Given the description of an element on the screen output the (x, y) to click on. 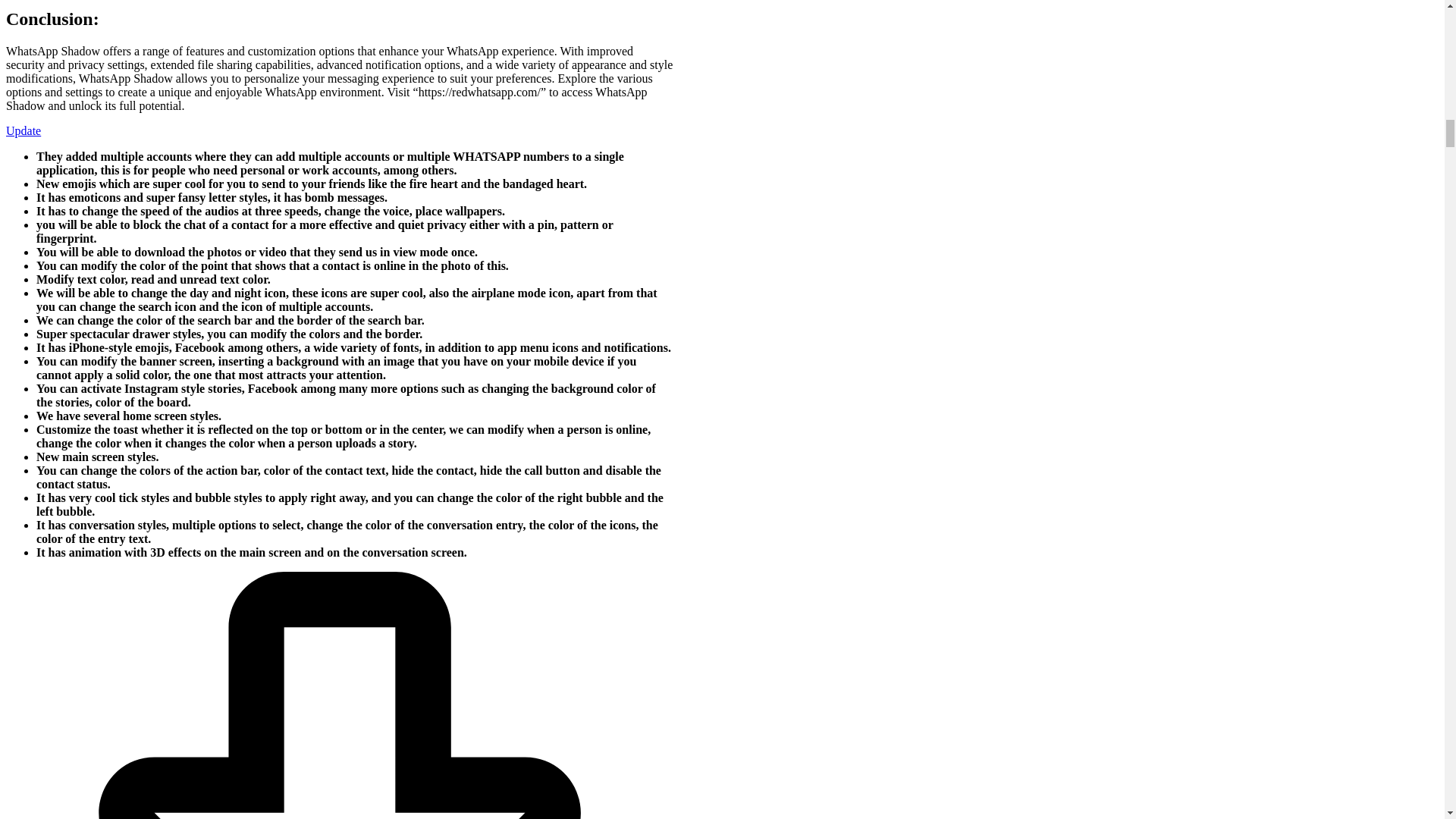
Update (22, 130)
